Given the description of an element on the screen output the (x, y) to click on. 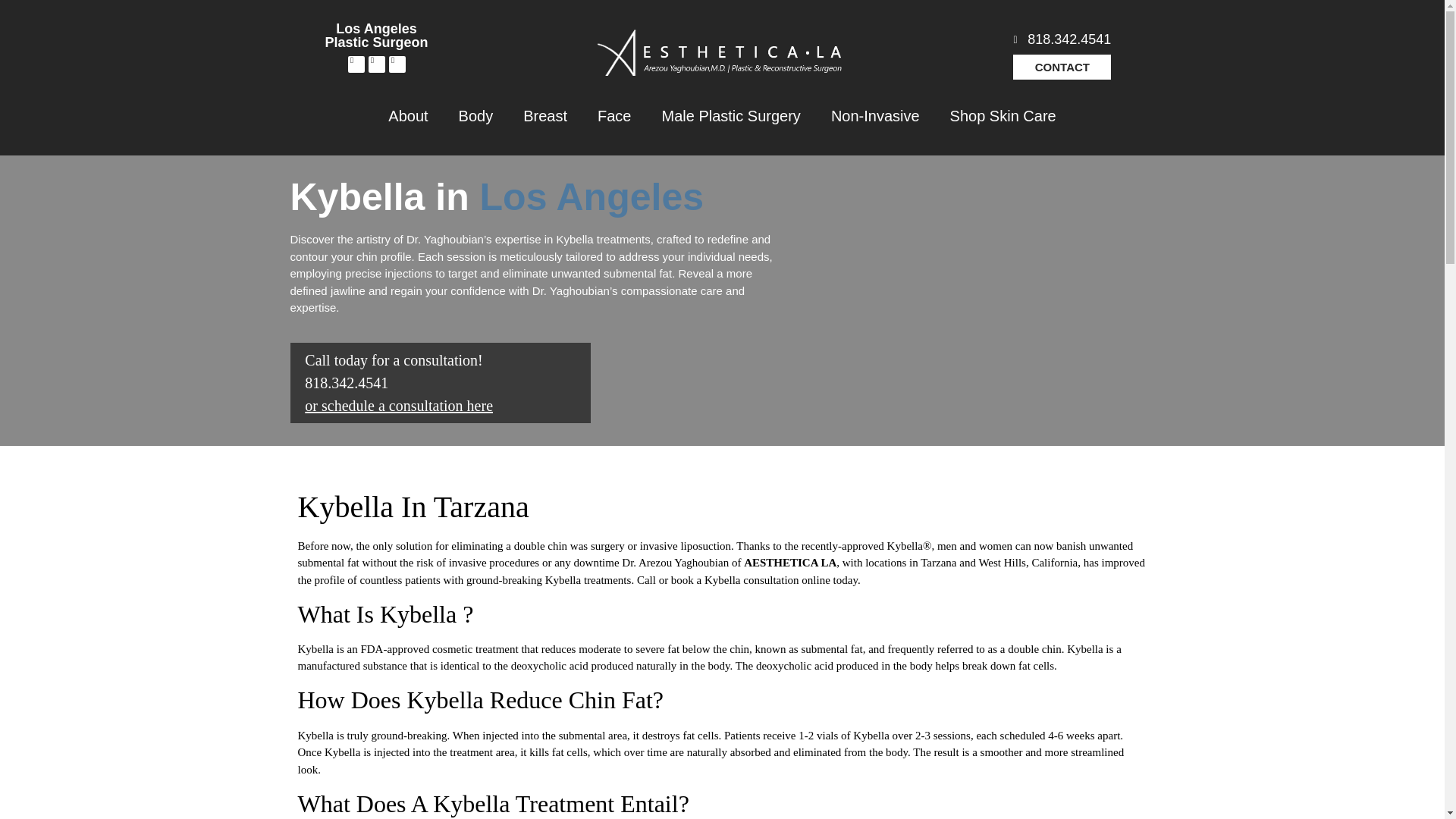
Shop Skin Care (1002, 115)
Breast (545, 115)
Body (476, 115)
Face (614, 115)
About (407, 115)
Non-Invasive (874, 115)
Male Plastic Surgery (730, 115)
818.342.4541 (1068, 39)
CONTACT (1061, 67)
